Given the description of an element on the screen output the (x, y) to click on. 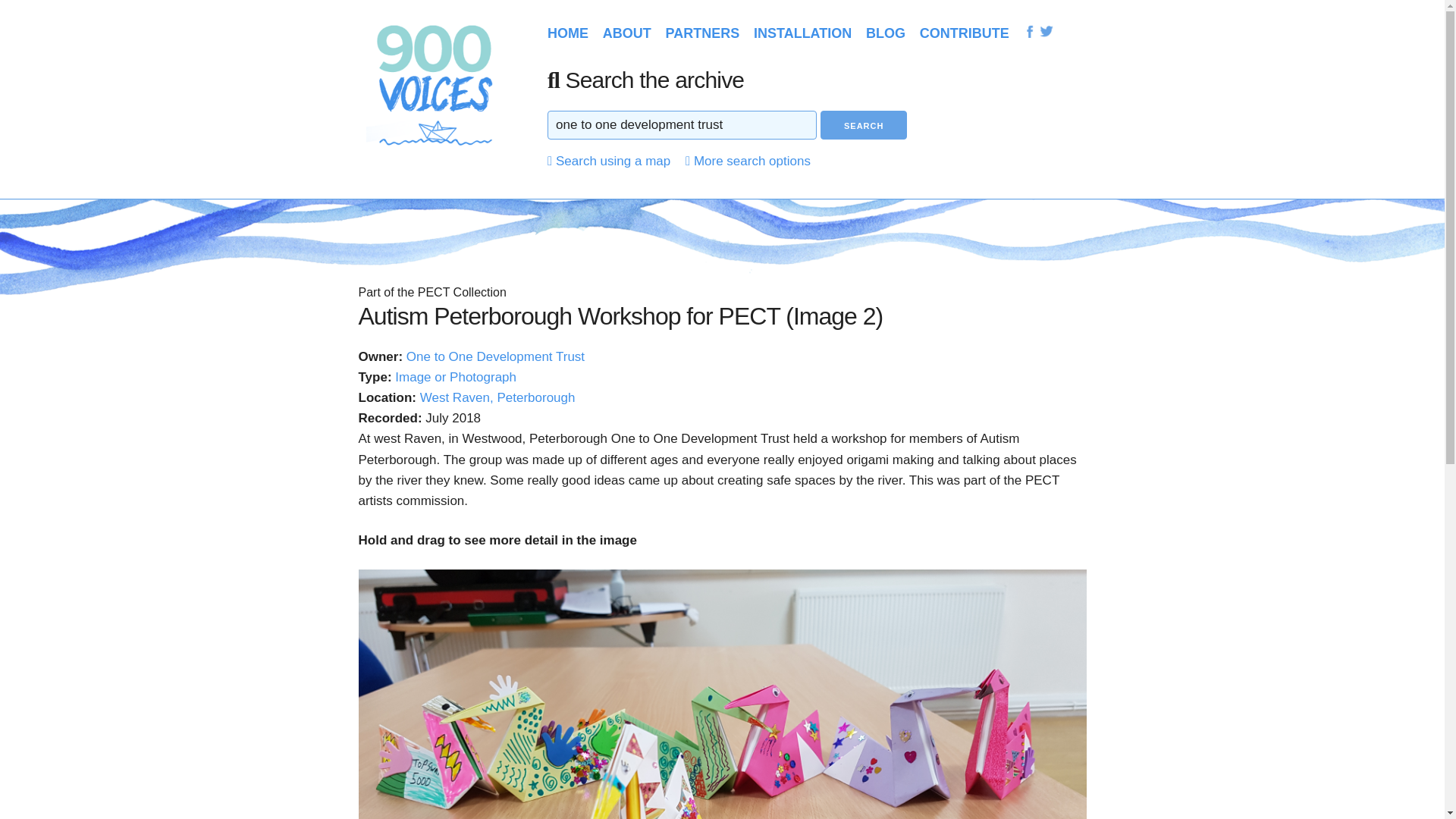
INSTALLATION (802, 32)
More search options (747, 160)
Search (864, 124)
PARTNERS (702, 32)
one to one development trust (681, 124)
Follow us on Twitter (1046, 30)
Search using a map (608, 160)
HOME (567, 32)
Find us on Facebook (1029, 31)
one to one development trust (681, 124)
ABOUT (626, 32)
BLOG (885, 32)
Search (864, 124)
CONTRIBUTE (964, 32)
